Given the description of an element on the screen output the (x, y) to click on. 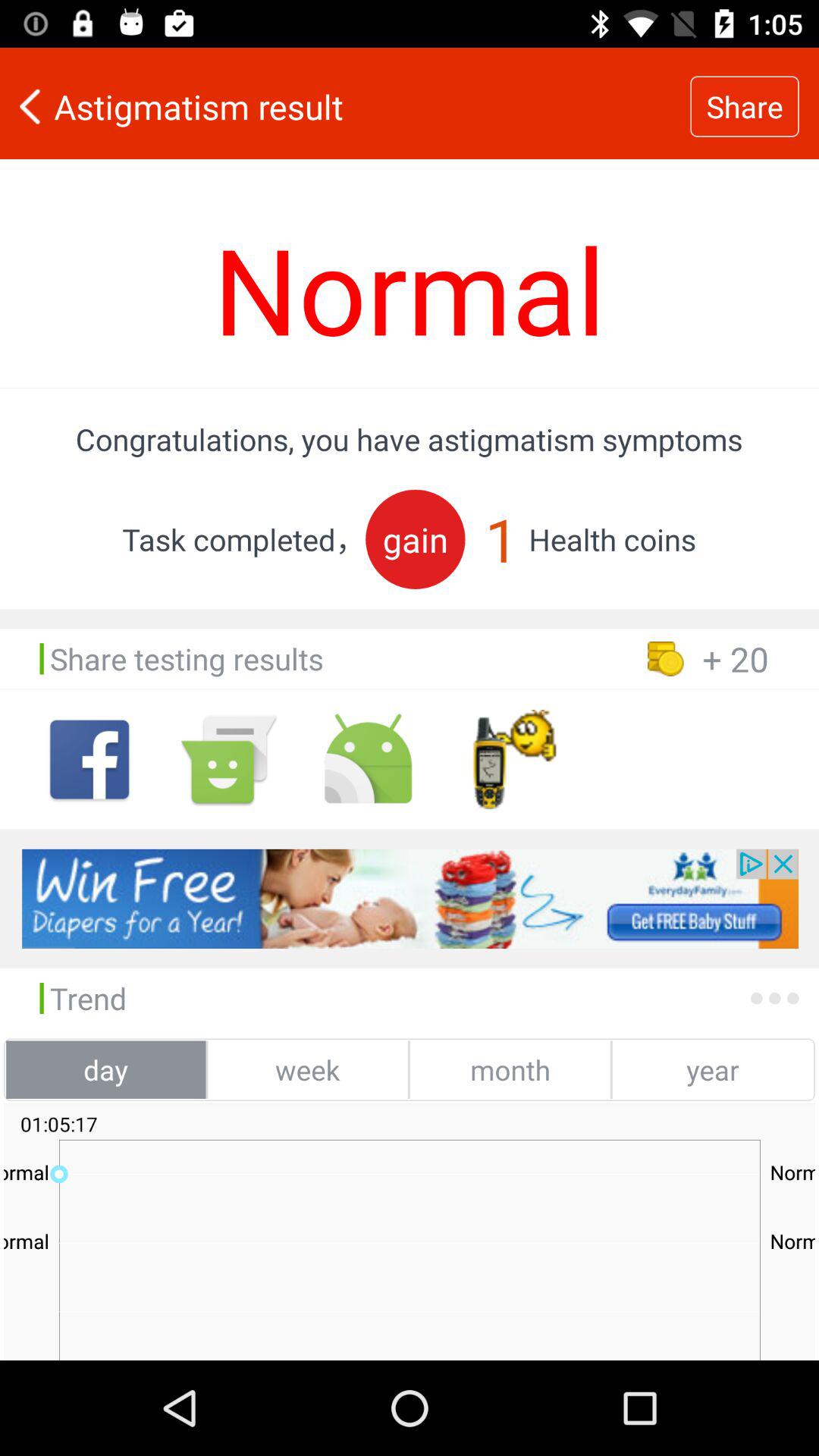
swipe to the year (712, 1069)
